Given the description of an element on the screen output the (x, y) to click on. 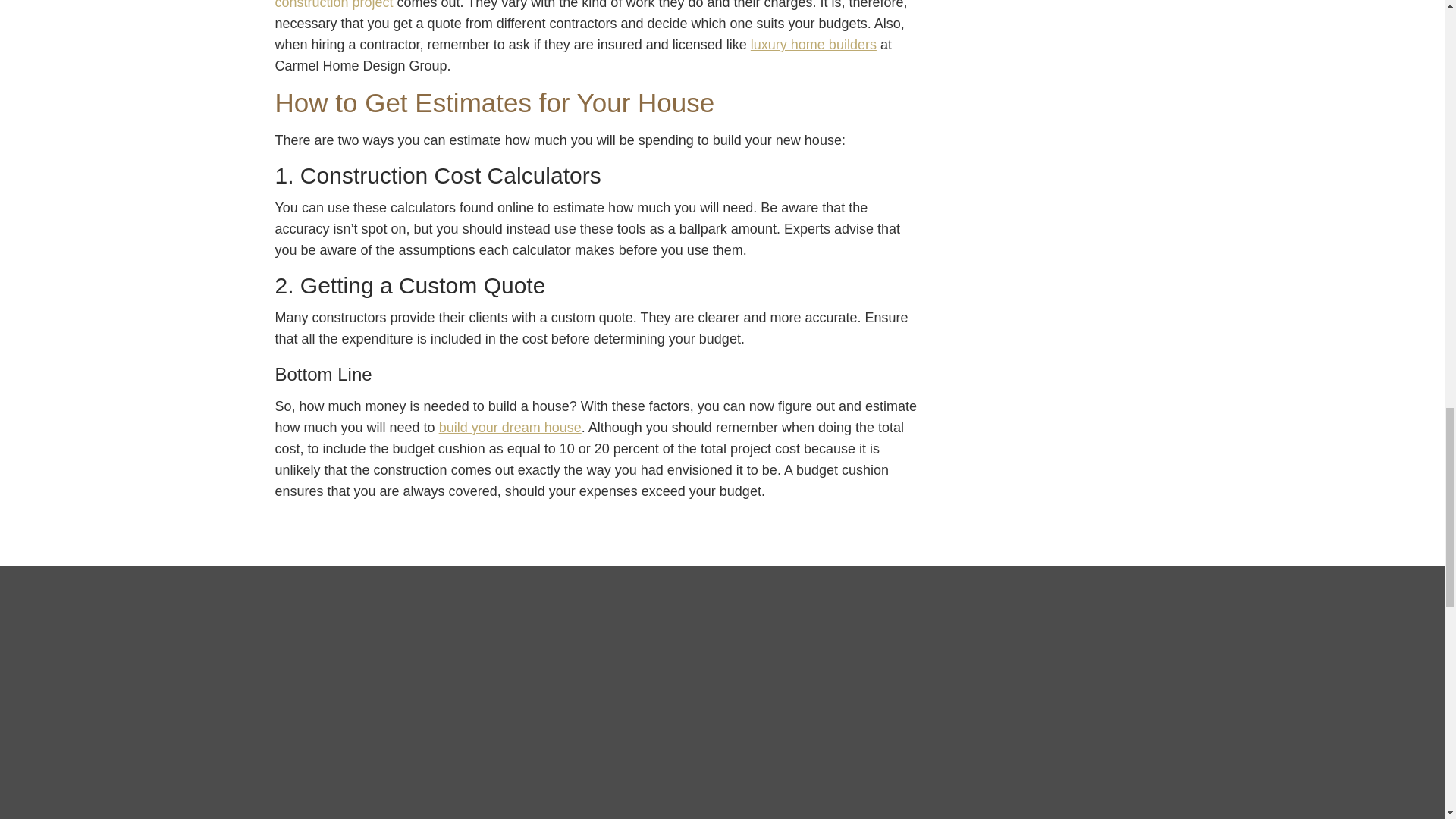
build your dream house (509, 427)
luxury home builders (813, 44)
how effective construction project (596, 4)
